Given the description of an element on the screen output the (x, y) to click on. 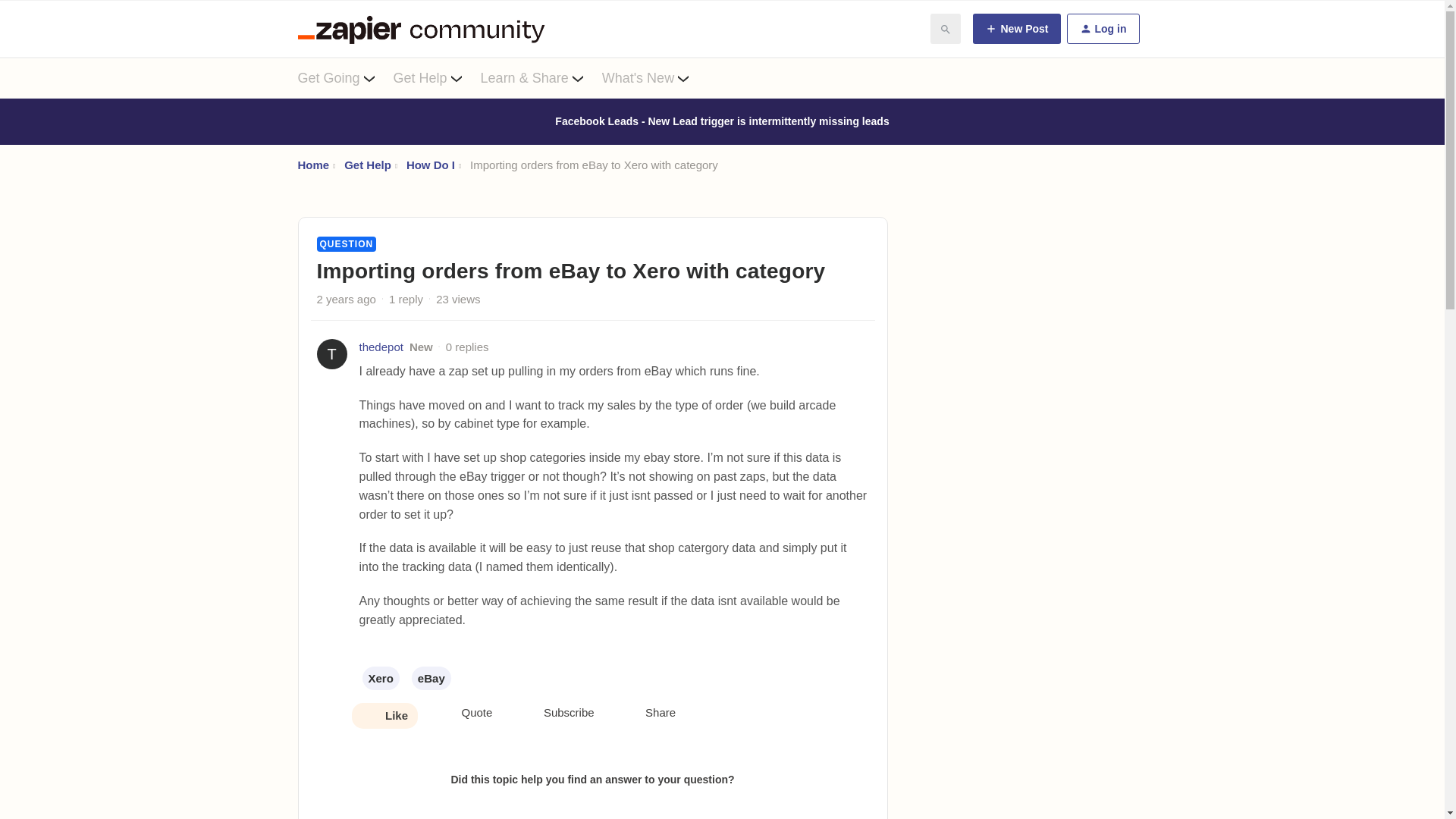
thedepot (381, 347)
Home (313, 165)
New Post (1015, 28)
What's New (654, 77)
Get Help (436, 77)
Get Going (345, 77)
Log in (1101, 28)
New Post (1015, 28)
